Given the description of an element on the screen output the (x, y) to click on. 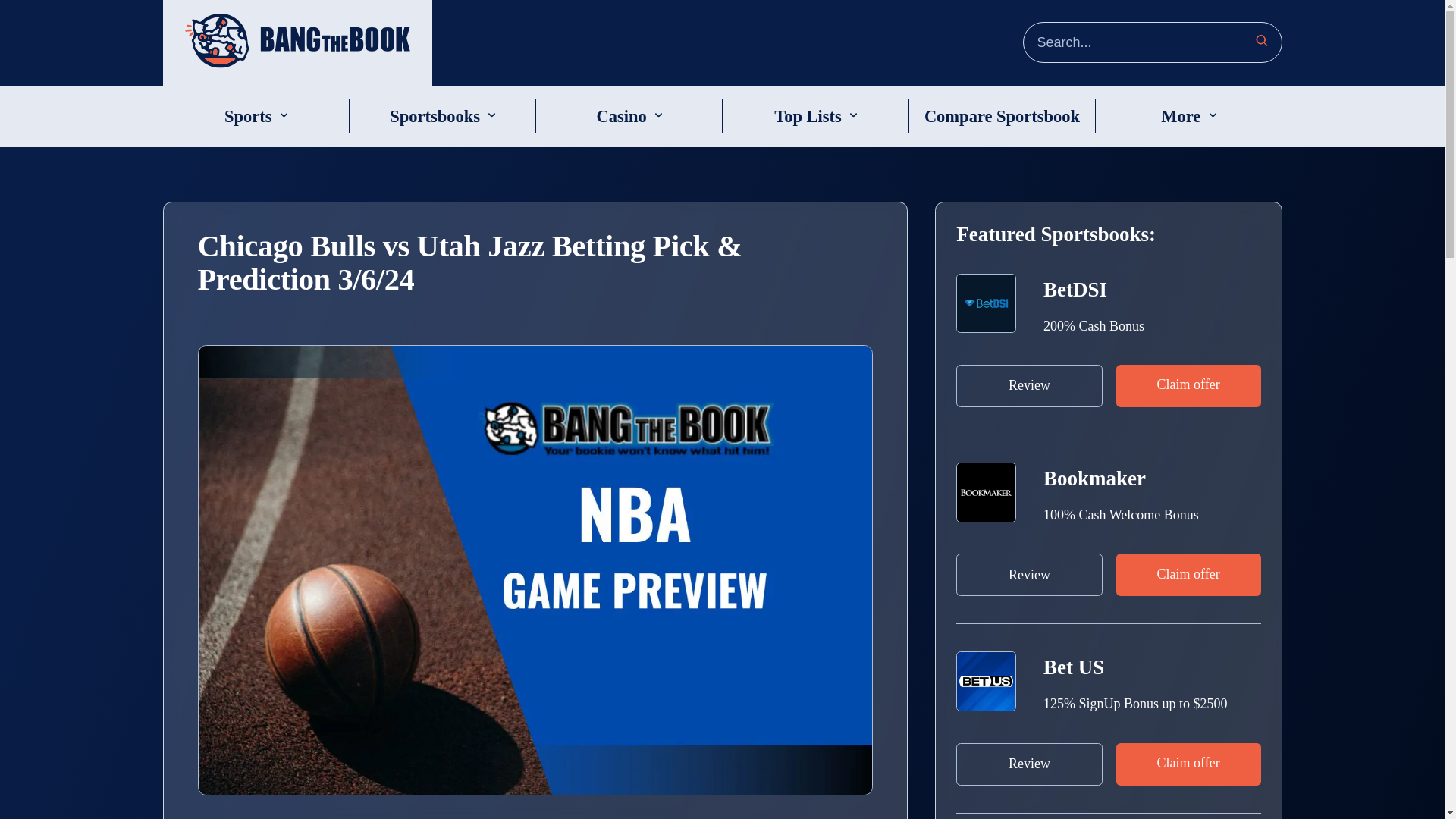
Casino (620, 116)
Sportsbooks (435, 116)
Top Lists (807, 116)
Sports (248, 116)
